Given the description of an element on the screen output the (x, y) to click on. 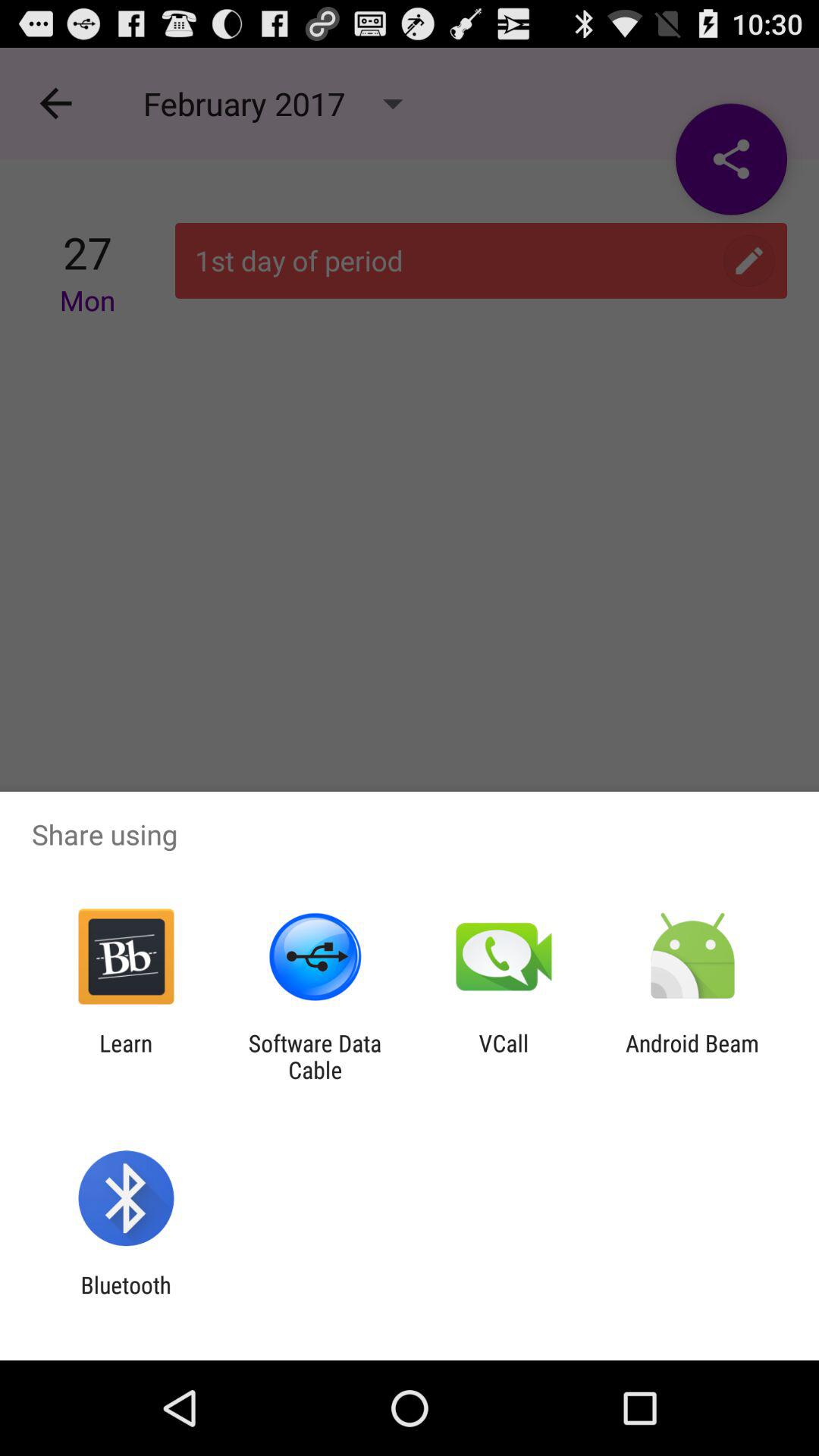
press the item next to the vcall item (314, 1056)
